Given the description of an element on the screen output the (x, y) to click on. 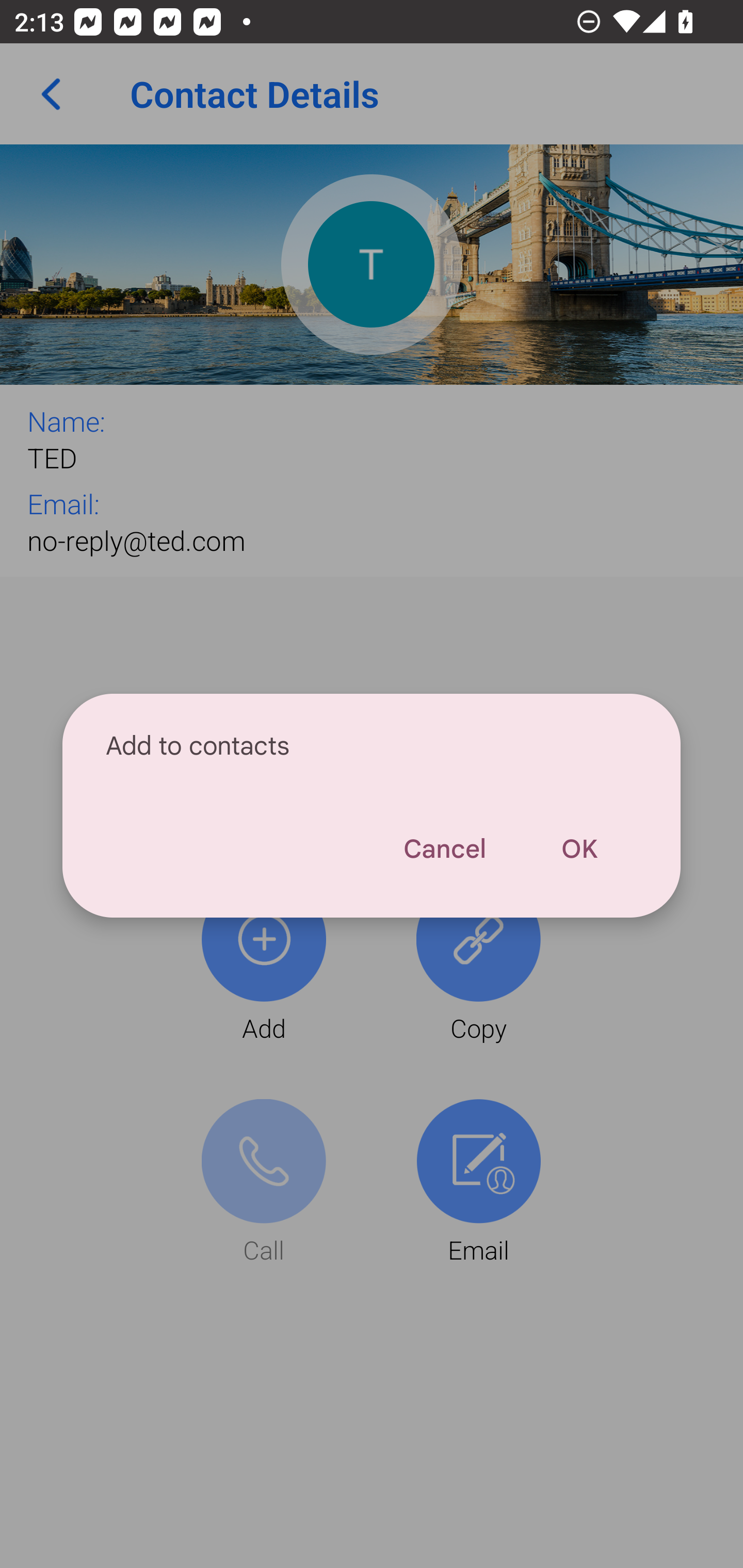
Cancel (444, 848)
OK (579, 848)
